Given the description of an element on the screen output the (x, y) to click on. 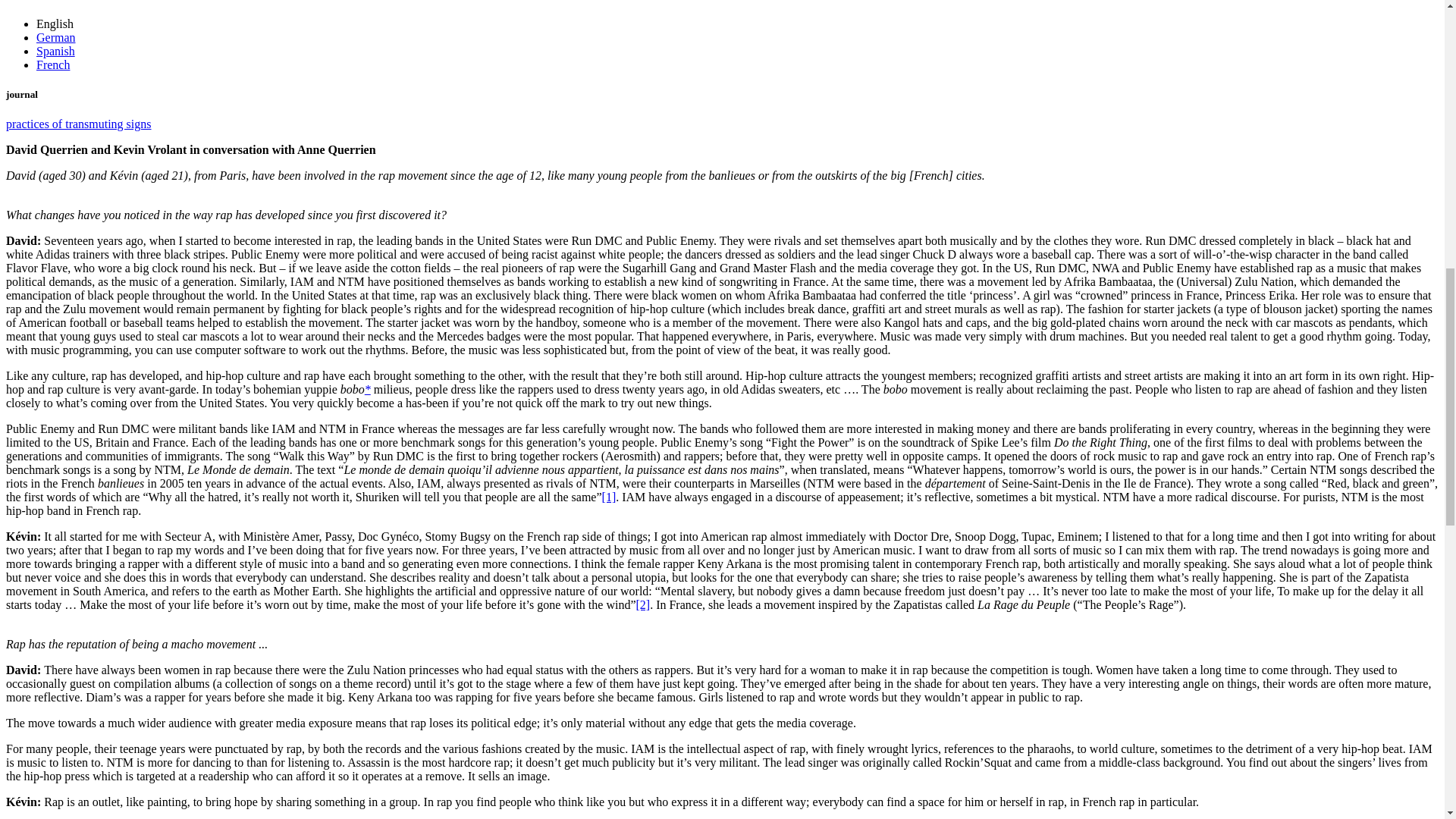
French (52, 64)
practices of transmuting signs (78, 123)
Spanish (55, 51)
German (55, 37)
